Given the description of an element on the screen output the (x, y) to click on. 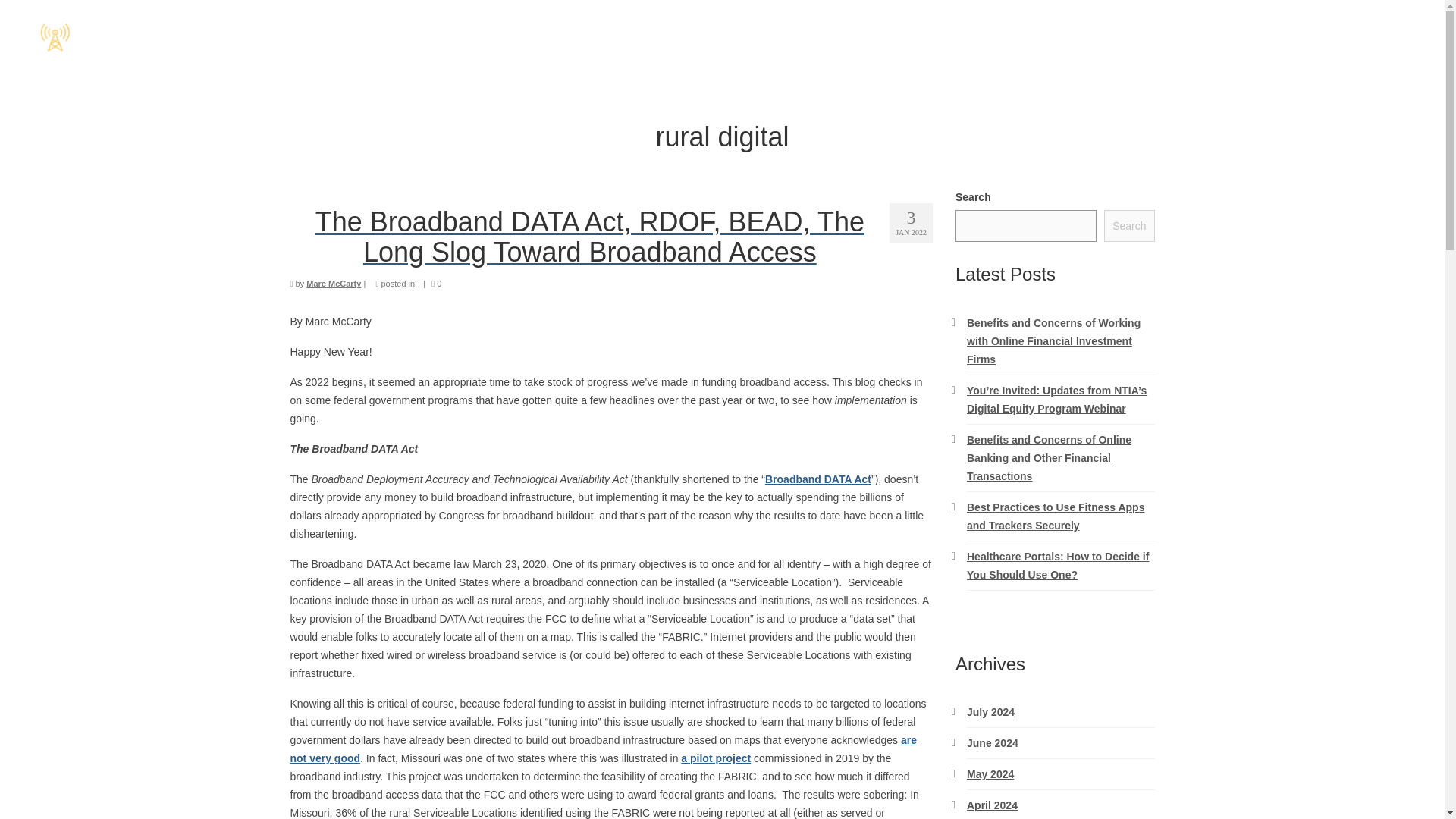
For Missourians  (1273, 36)
About  (1375, 36)
For Broadband Planners  (1118, 36)
